Given the description of an element on the screen output the (x, y) to click on. 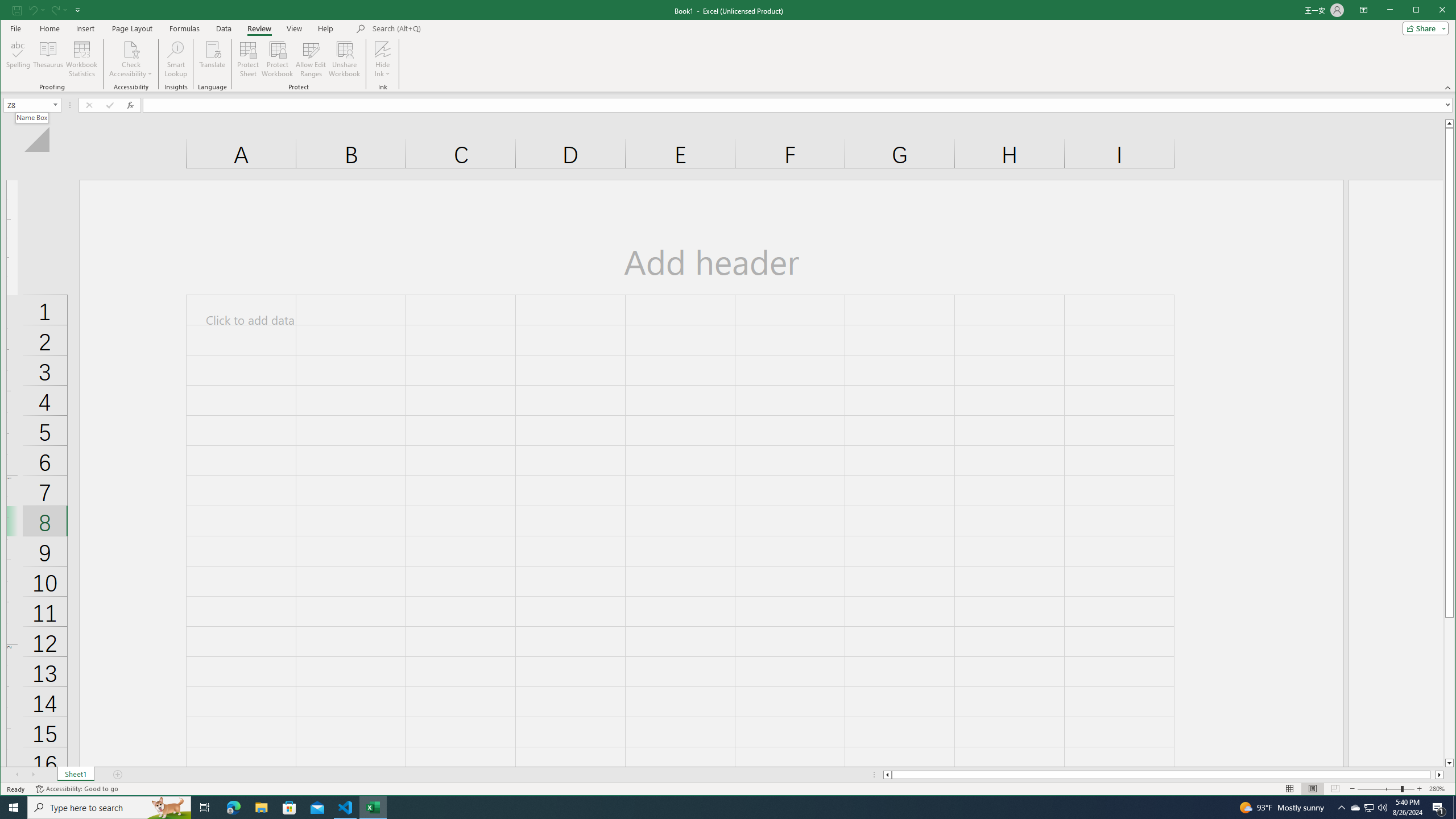
Translate (212, 59)
File Explorer (261, 807)
Smart Lookup (176, 59)
Spelling... (18, 59)
